Given the description of an element on the screen output the (x, y) to click on. 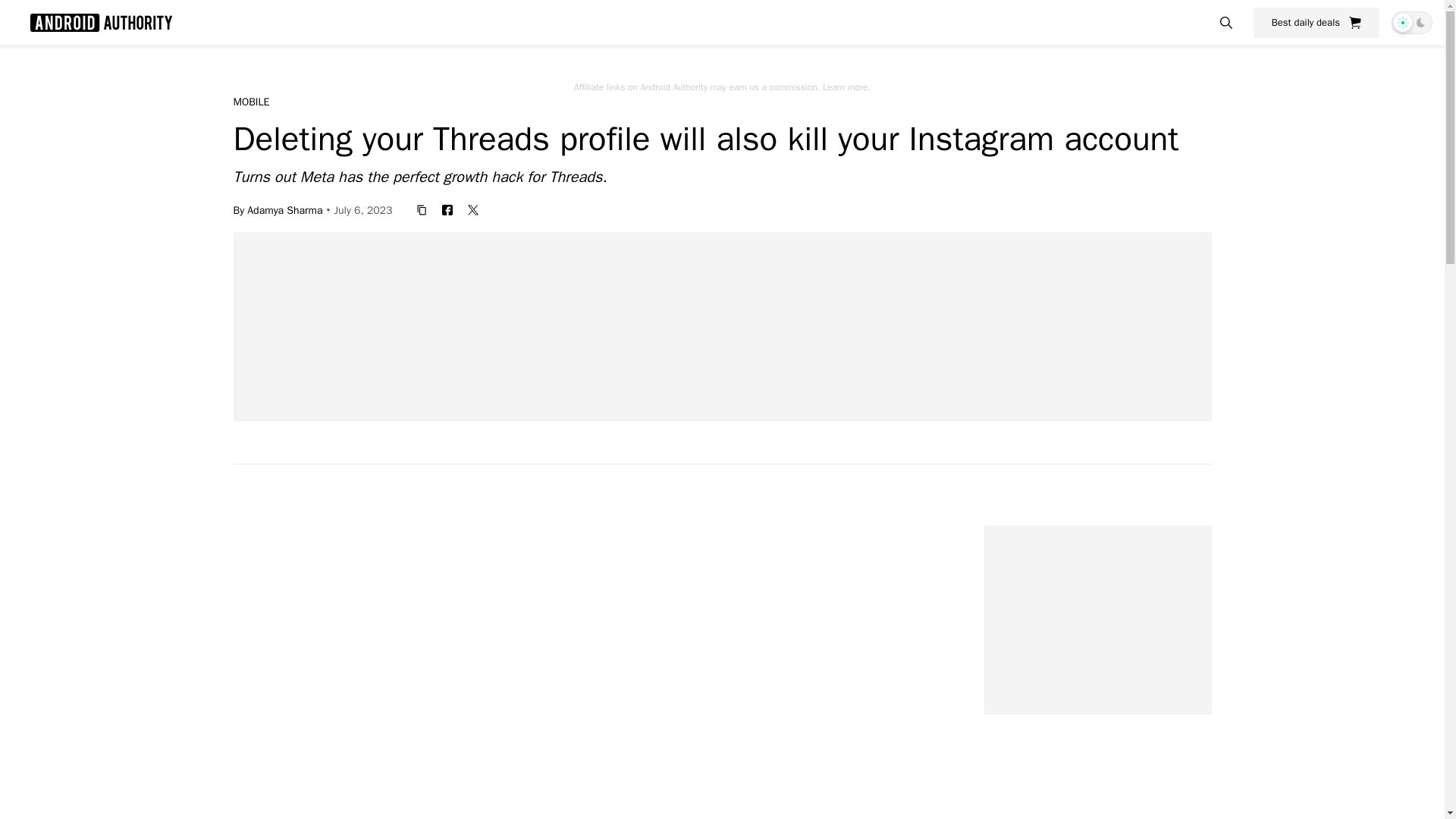
Adamya Sharma (284, 209)
twitter (473, 209)
Best daily deals (1315, 22)
MOBILE (250, 101)
Learn more. (846, 86)
facebook (446, 209)
